Given the description of an element on the screen output the (x, y) to click on. 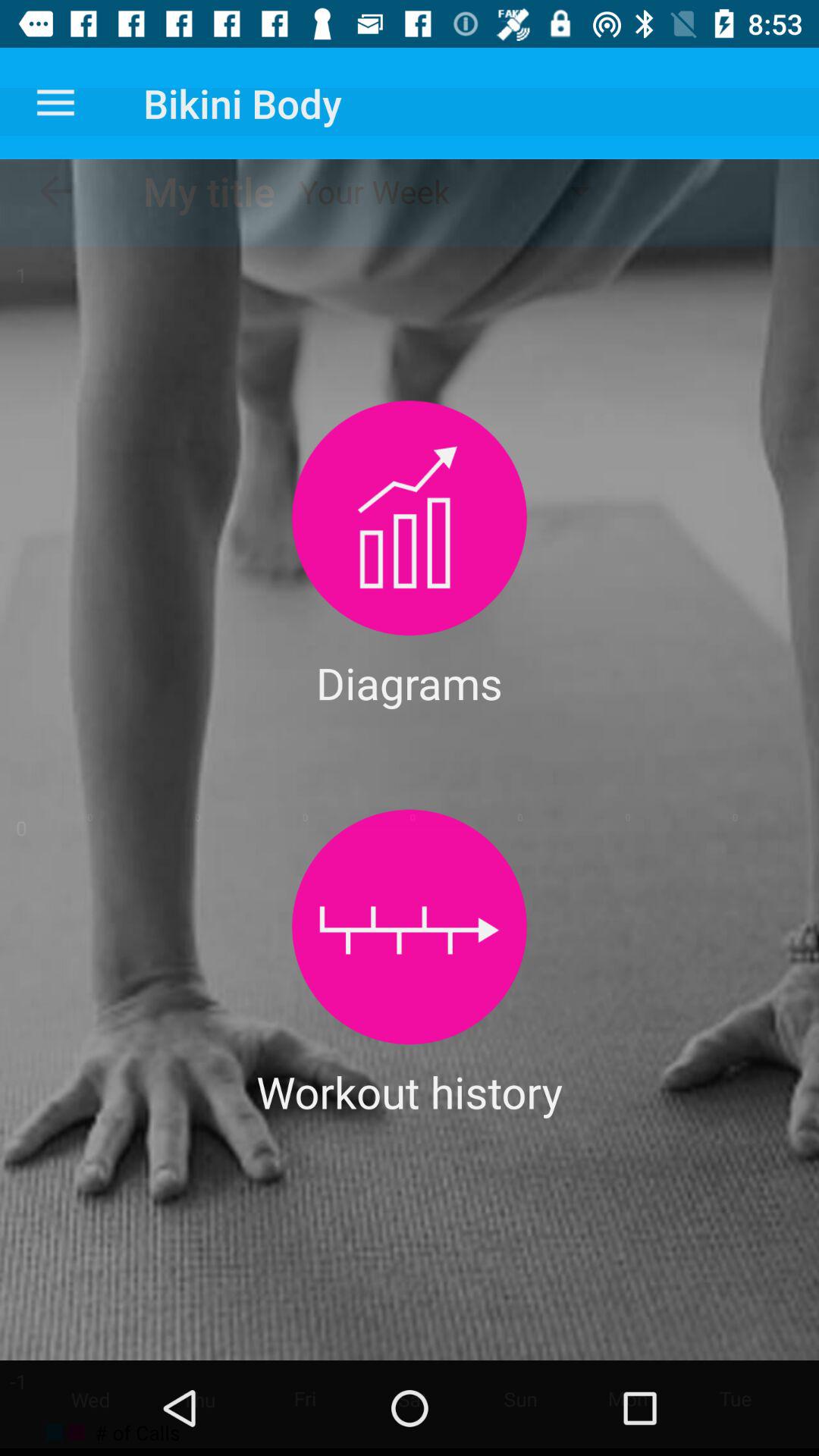
diagrams select (409, 517)
